Given the description of an element on the screen output the (x, y) to click on. 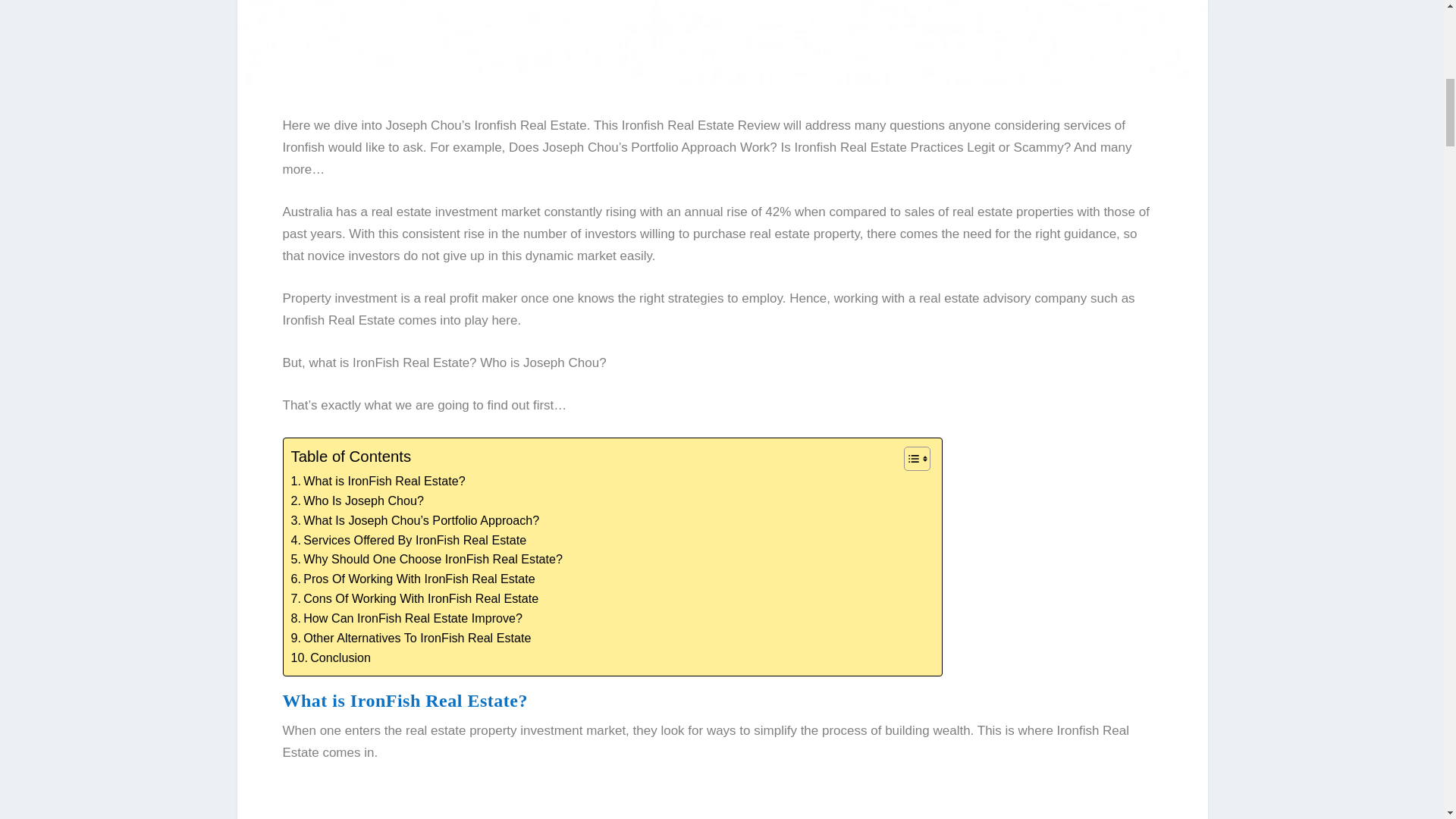
Why Should One Choose IronFish Real Estate? (427, 559)
Other Alternatives To IronFish Real Estate (411, 638)
Cons Of Working With IronFish Real Estate (414, 598)
Why Should One Choose IronFish Real Estate? (427, 559)
Pros Of Working With IronFish Real Estate (413, 578)
Services Offered By IronFish Real Estate (409, 540)
Pros Of Working With IronFish Real Estate (413, 578)
How Can IronFish Real Estate Improve? (406, 618)
What is IronFish Real Estate? (378, 481)
Cons Of Working With IronFish Real Estate (414, 598)
